Given the description of an element on the screen output the (x, y) to click on. 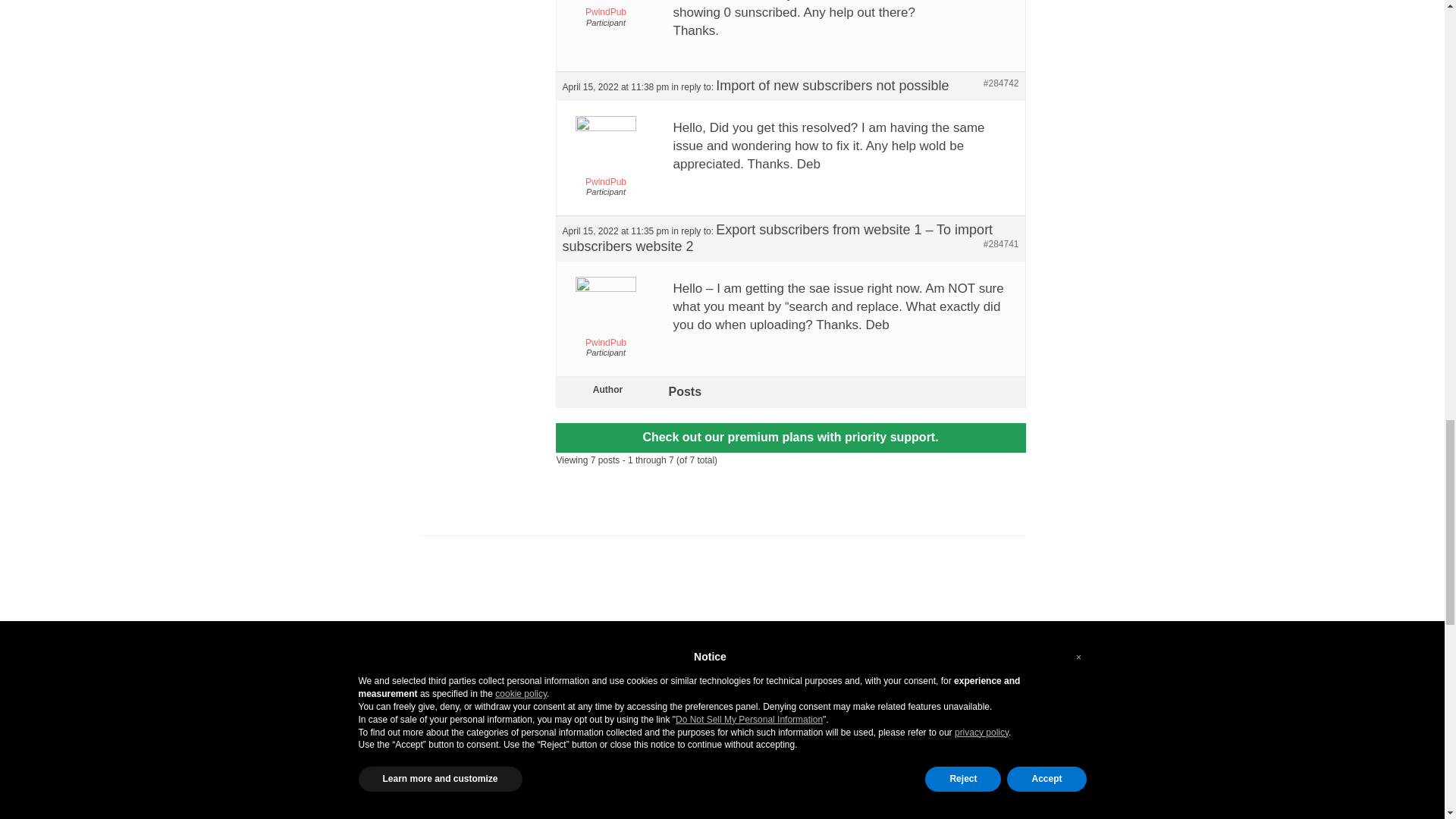
View PwindPub's profile (605, 154)
View PwindPub's profile (605, 8)
View PwindPub's profile (605, 315)
